Given the description of an element on the screen output the (x, y) to click on. 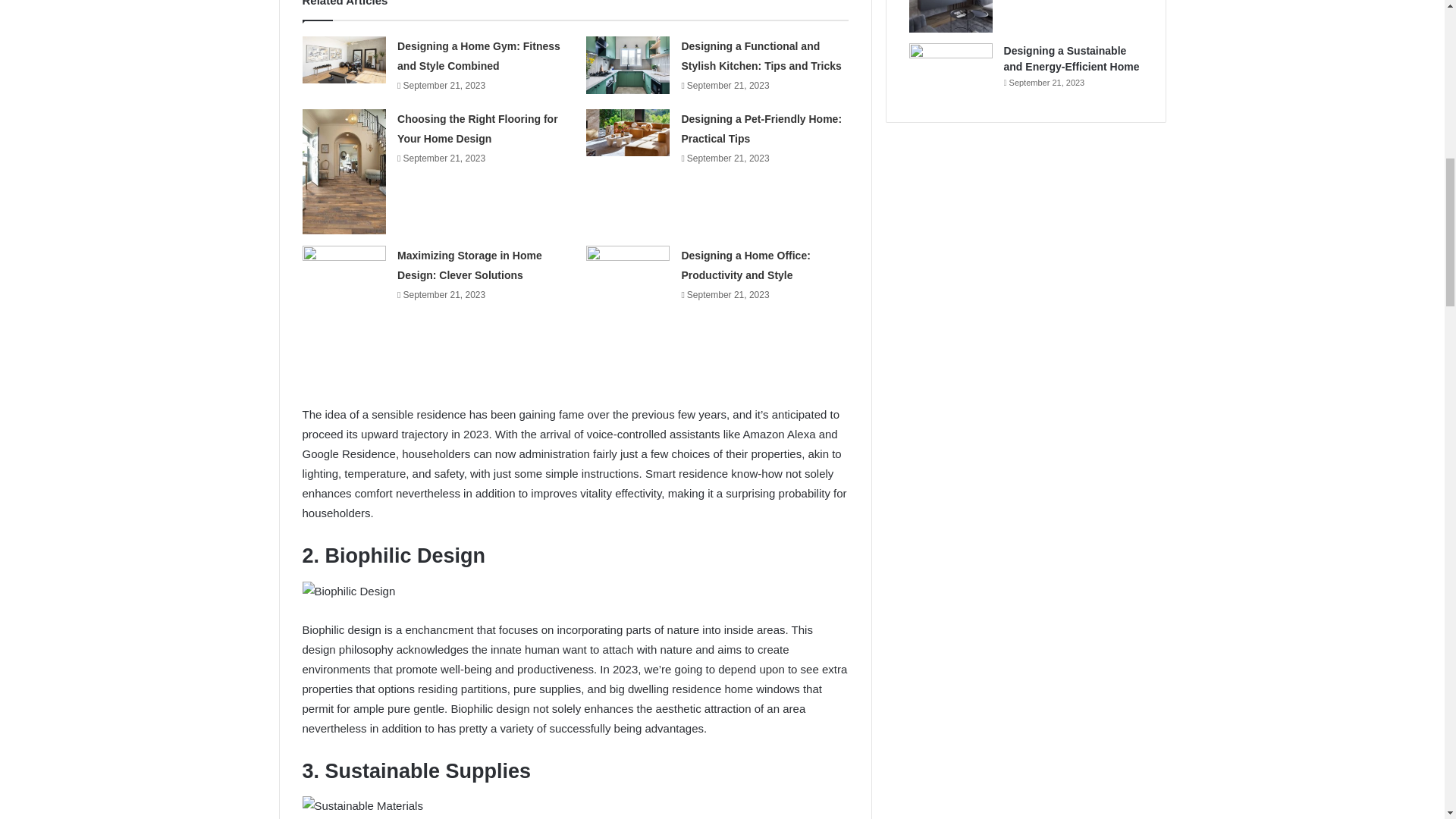
Designing a Functional and Stylish Kitchen: Tips and Tricks (761, 56)
Choosing the Right Flooring for Your Home Design (477, 128)
Designing a Home Gym: Fitness and Style Combined (478, 56)
